Given the description of an element on the screen output the (x, y) to click on. 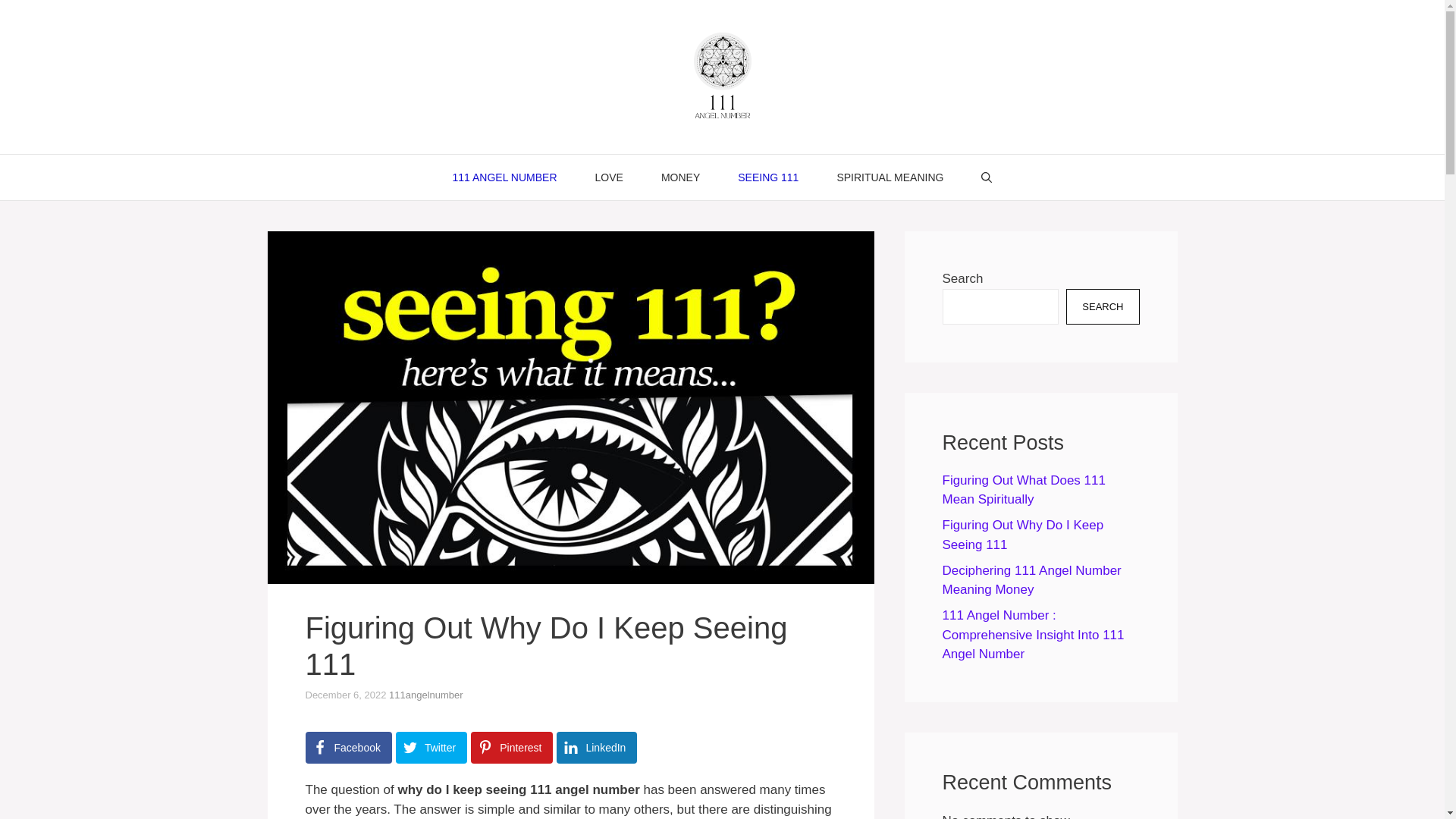
LOVE Element type: text (609, 177)
Pinterest Element type: text (511, 747)
Facebook Element type: text (347, 747)
Deciphering 111 Angel Number Meaning Money Element type: text (1030, 580)
111angelnumber Element type: text (426, 694)
SEEING 111 Element type: text (767, 177)
SEARCH Element type: text (1102, 306)
MONEY Element type: text (680, 177)
Figuring Out What Does 111 Mean Spiritually Element type: text (1022, 490)
LinkedIn Element type: text (596, 747)
111 ANGEL NUMBER Element type: text (504, 177)
Figuring Out Why Do I Keep Seeing 111 Element type: text (1022, 534)
SPIRITUAL MEANING Element type: text (889, 177)
Twitter Element type: text (431, 747)
